Given the description of an element on the screen output the (x, y) to click on. 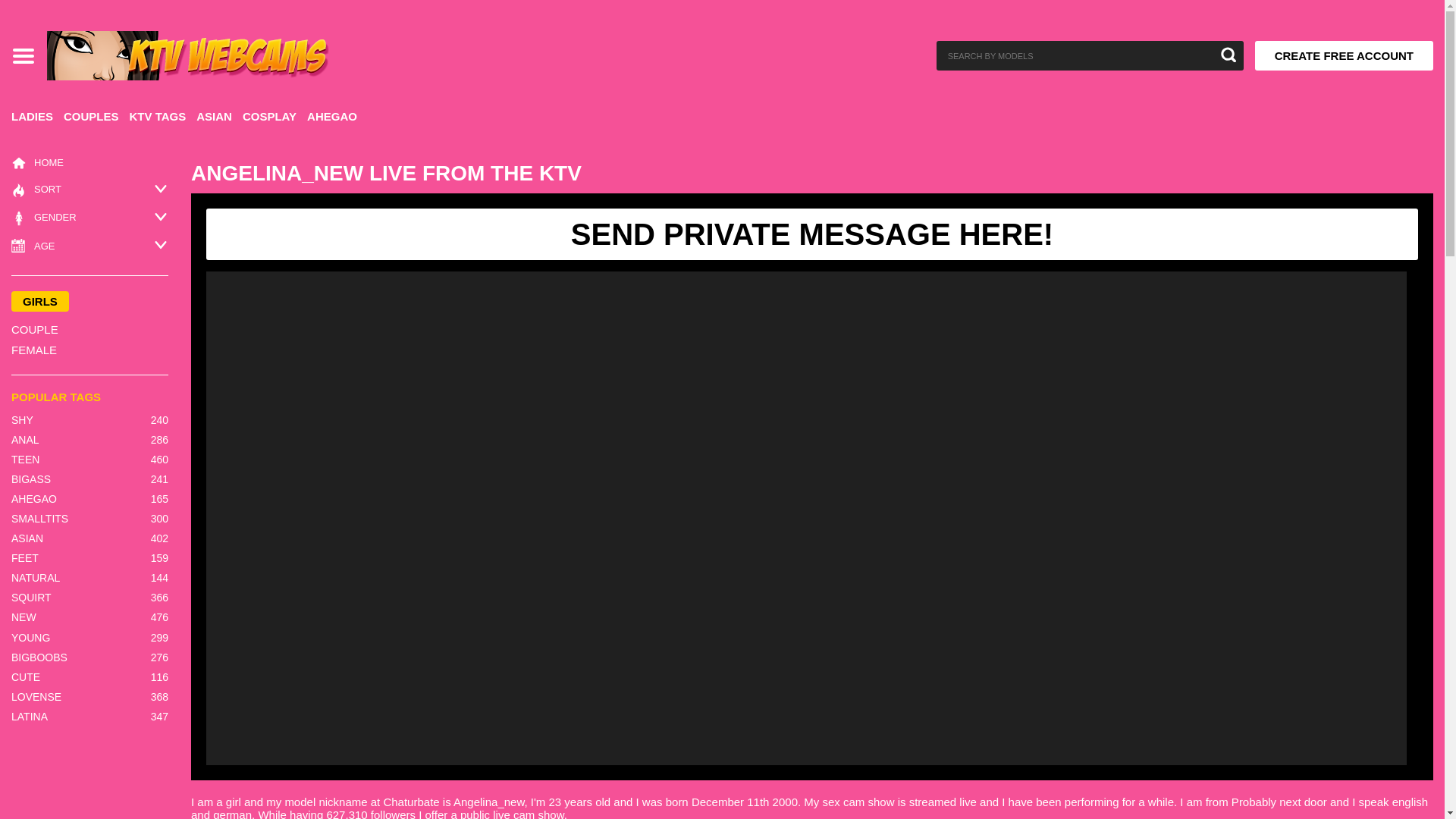
TEEN (25, 459)
LADIES (31, 120)
CREATE FREE ACCOUNT (1343, 55)
KTV TAGS (157, 120)
COUPLES (90, 120)
SORT (36, 190)
GIRLS (39, 301)
AGE (33, 246)
FEMALE (89, 349)
COUPLE (89, 329)
